Given the description of an element on the screen output the (x, y) to click on. 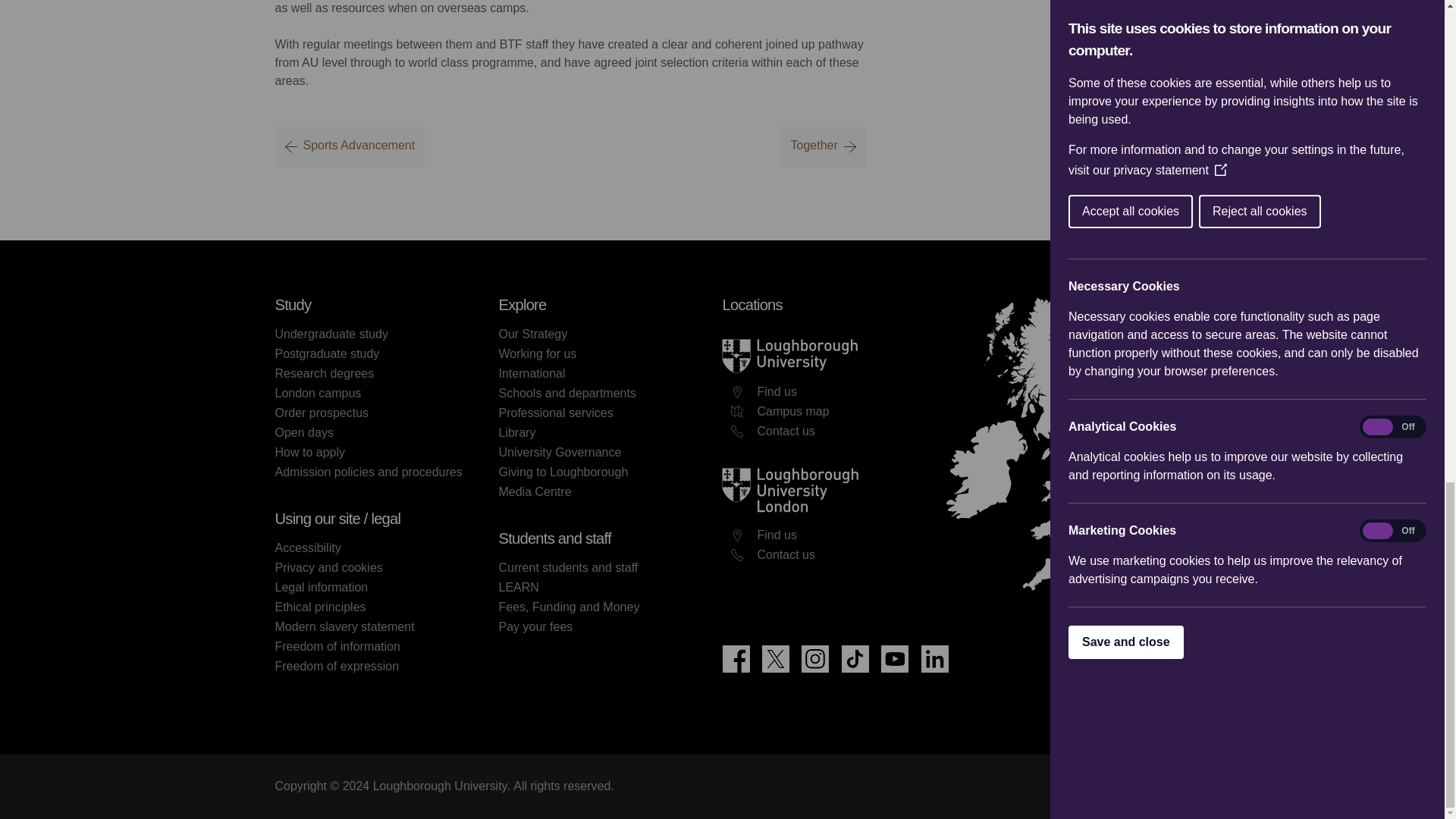
Together (822, 146)
Sports Advancement (350, 146)
